Given the description of an element on the screen output the (x, y) to click on. 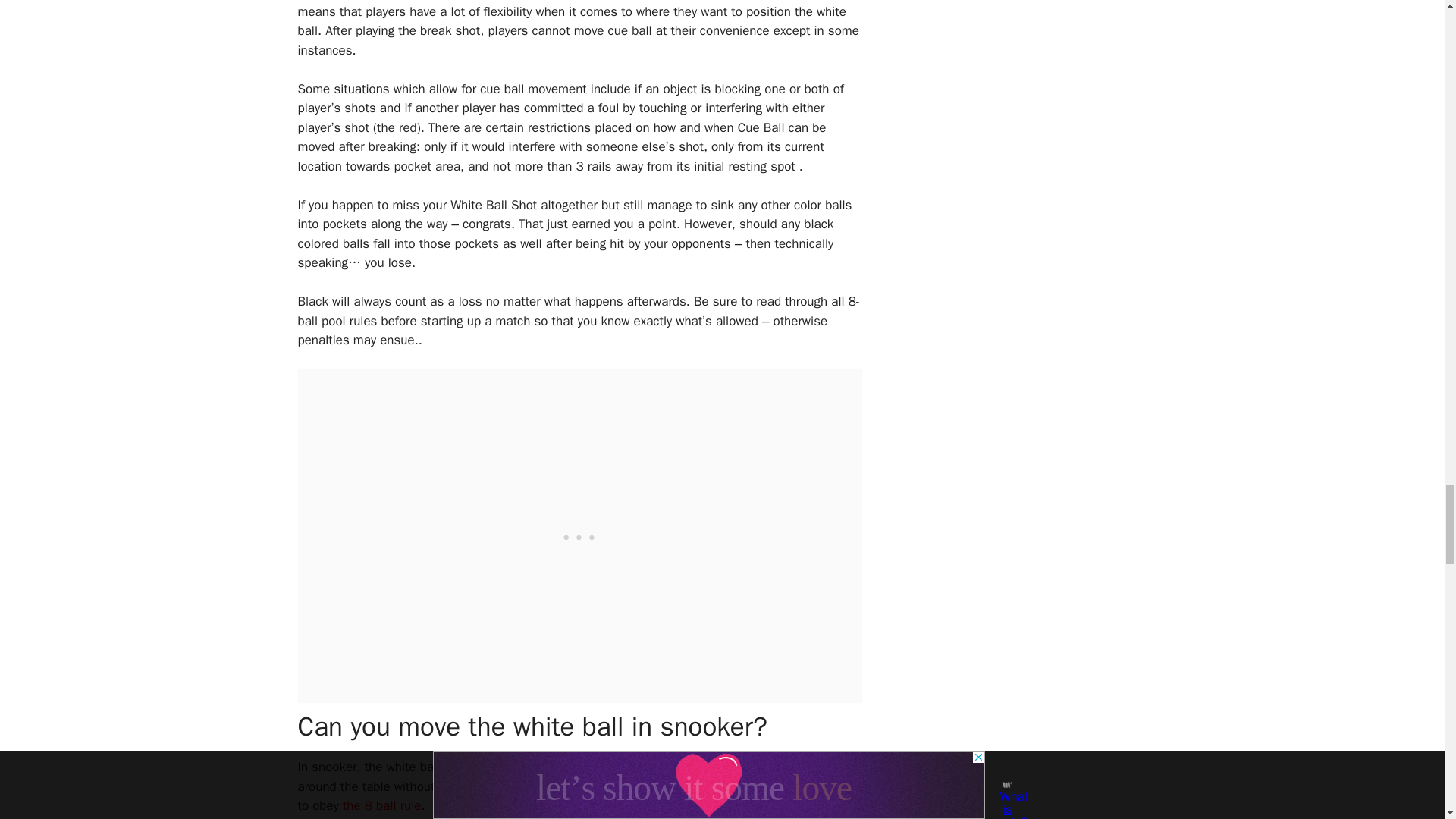
the 8 ball rule (382, 805)
